Given the description of an element on the screen output the (x, y) to click on. 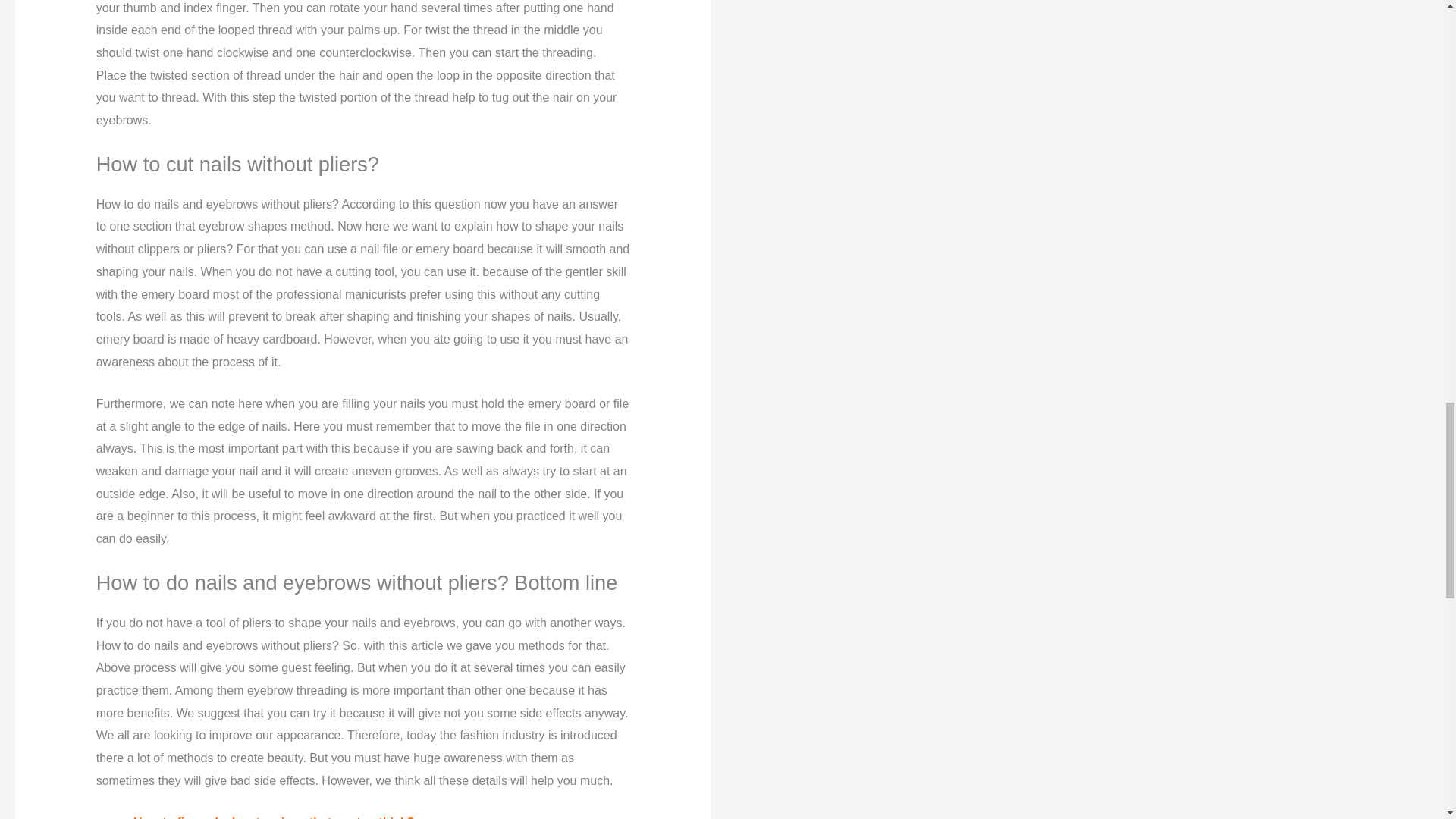
How to fix eyelash extensions that are too thick? (272, 817)
